Given the description of an element on the screen output the (x, y) to click on. 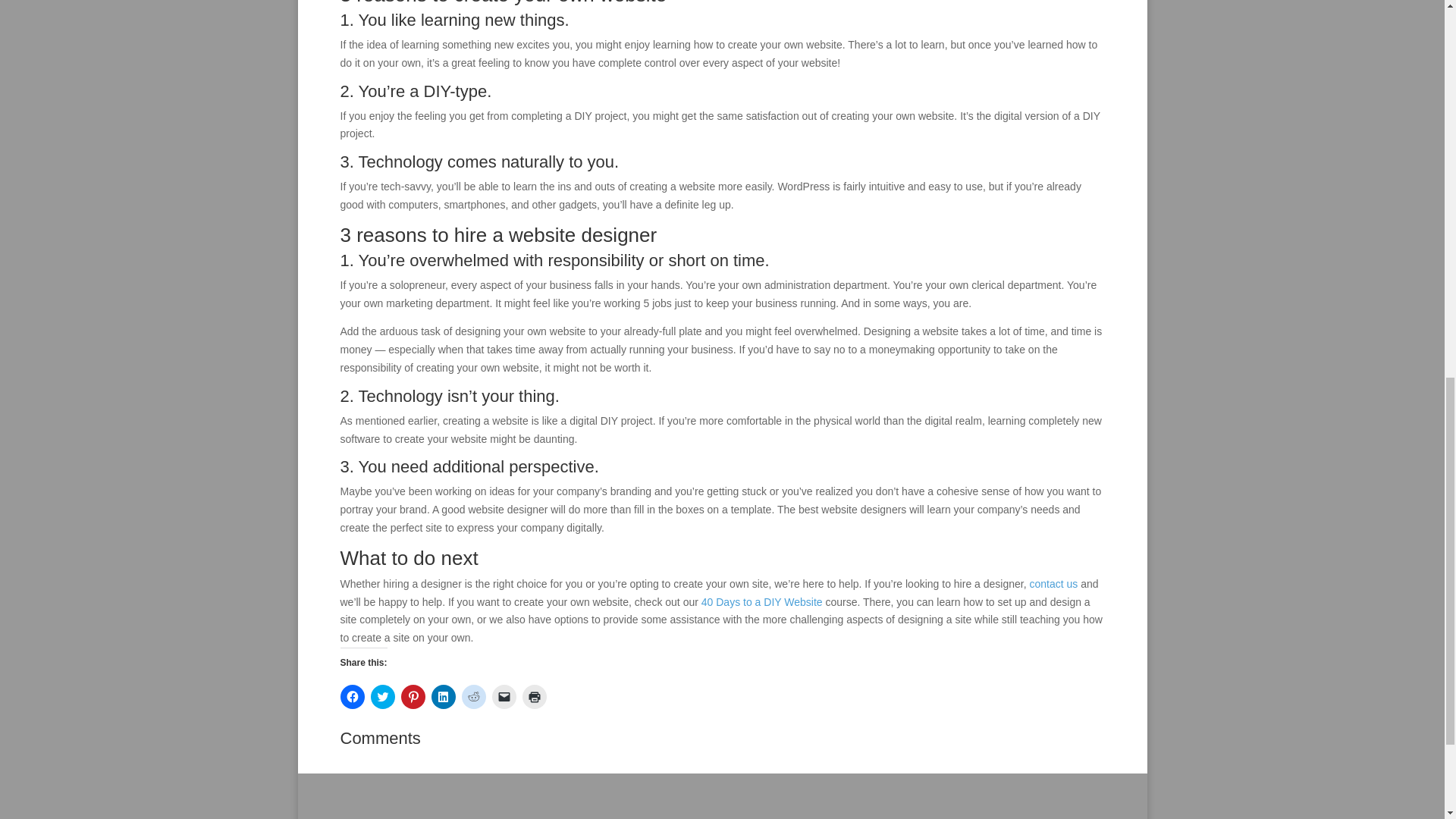
Click to print (533, 696)
Click to email a link to a friend (503, 696)
Click to share on Pinterest (412, 696)
contact us (1053, 583)
Click to share on LinkedIn (442, 696)
Click to share on Reddit (472, 696)
40 Days to a DIY Website (761, 602)
Click to share on Facebook (351, 696)
Click to share on Twitter (381, 696)
